Given the description of an element on the screen output the (x, y) to click on. 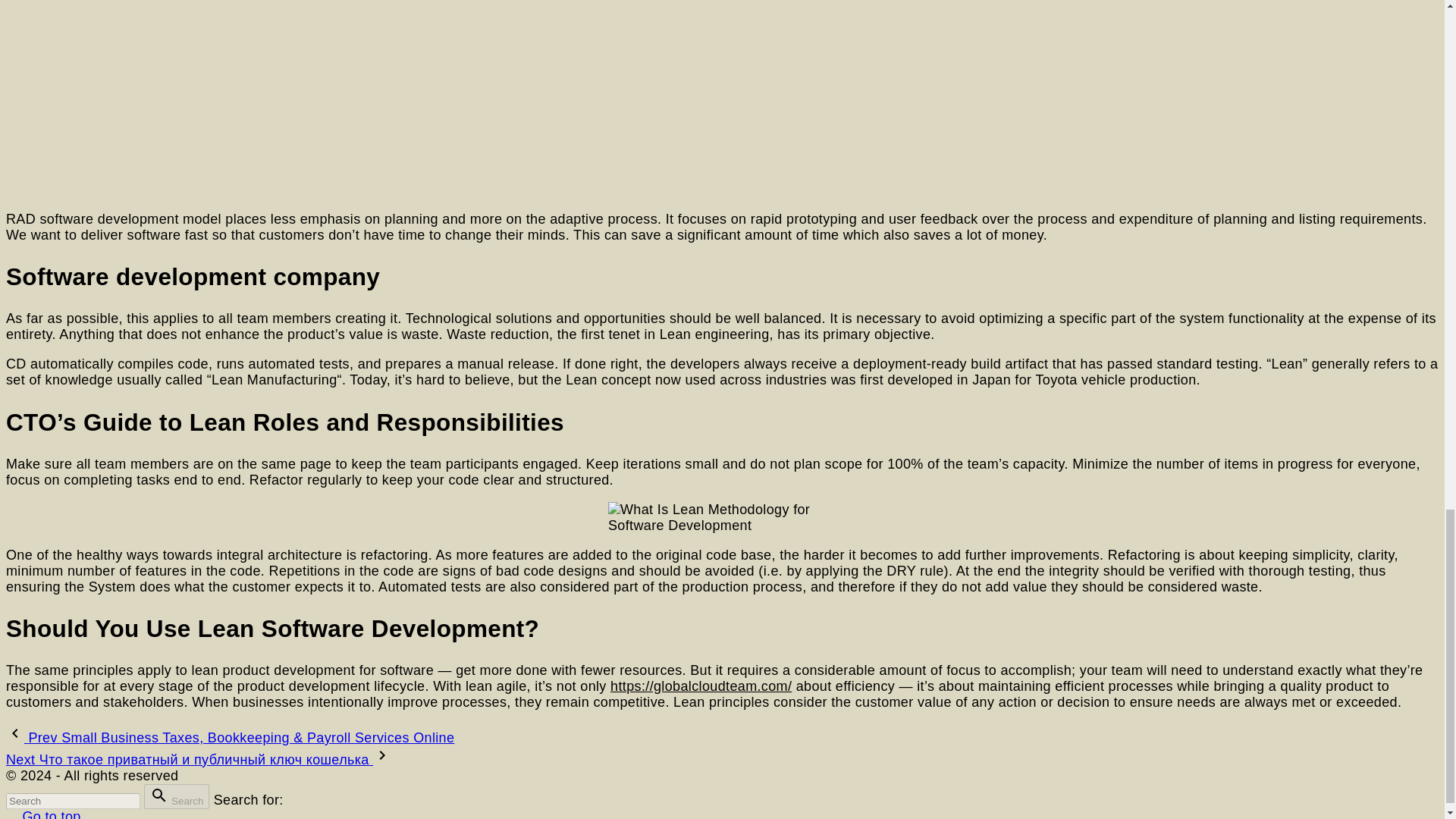
Search (176, 796)
